Given the description of an element on the screen output the (x, y) to click on. 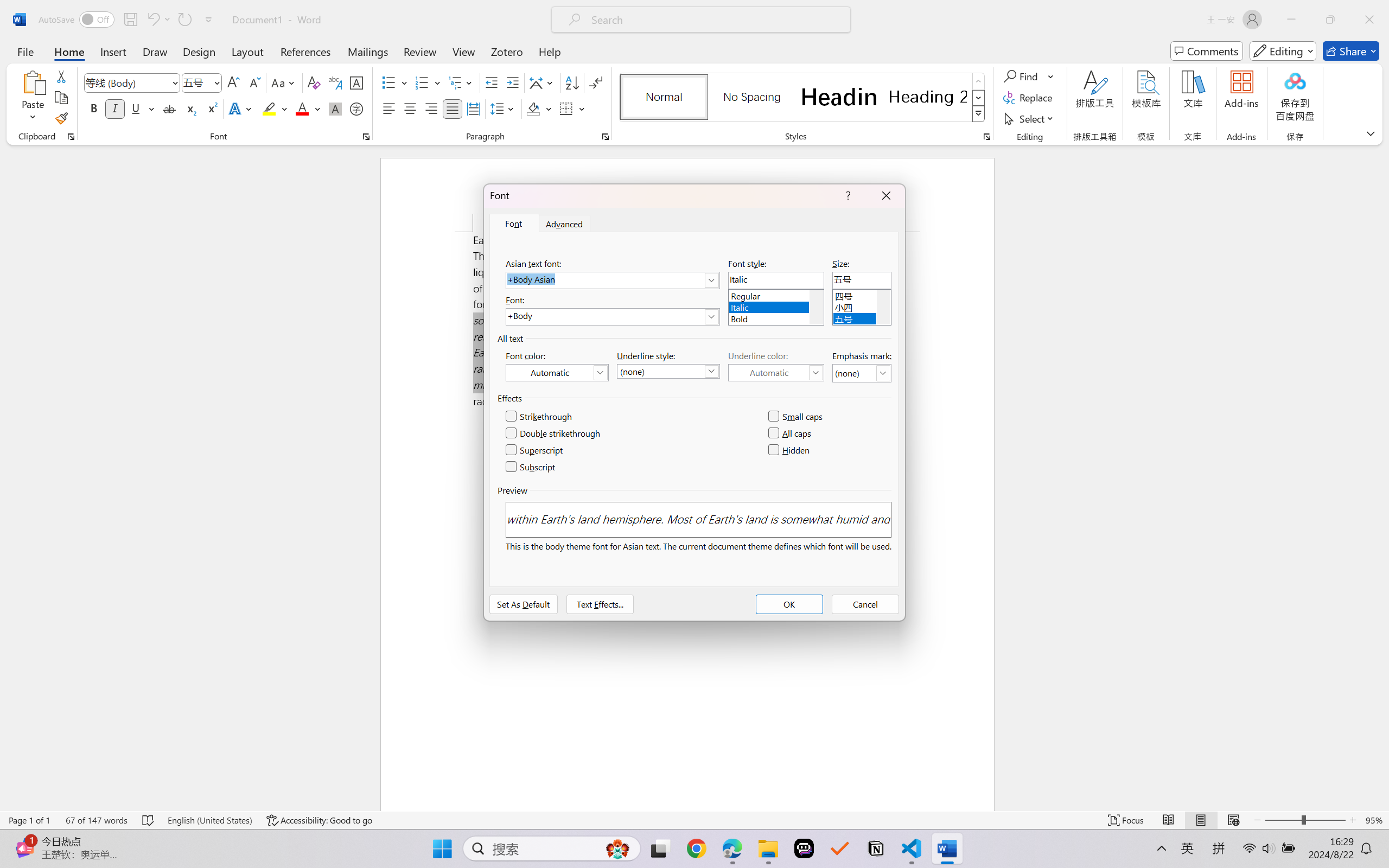
Subscript (530, 466)
Heading 1 (839, 96)
Cut (60, 75)
Enclose Characters... (356, 108)
Font style: (775, 280)
Bold (775, 316)
Line and Paragraph Spacing (503, 108)
